Given the description of an element on the screen output the (x, y) to click on. 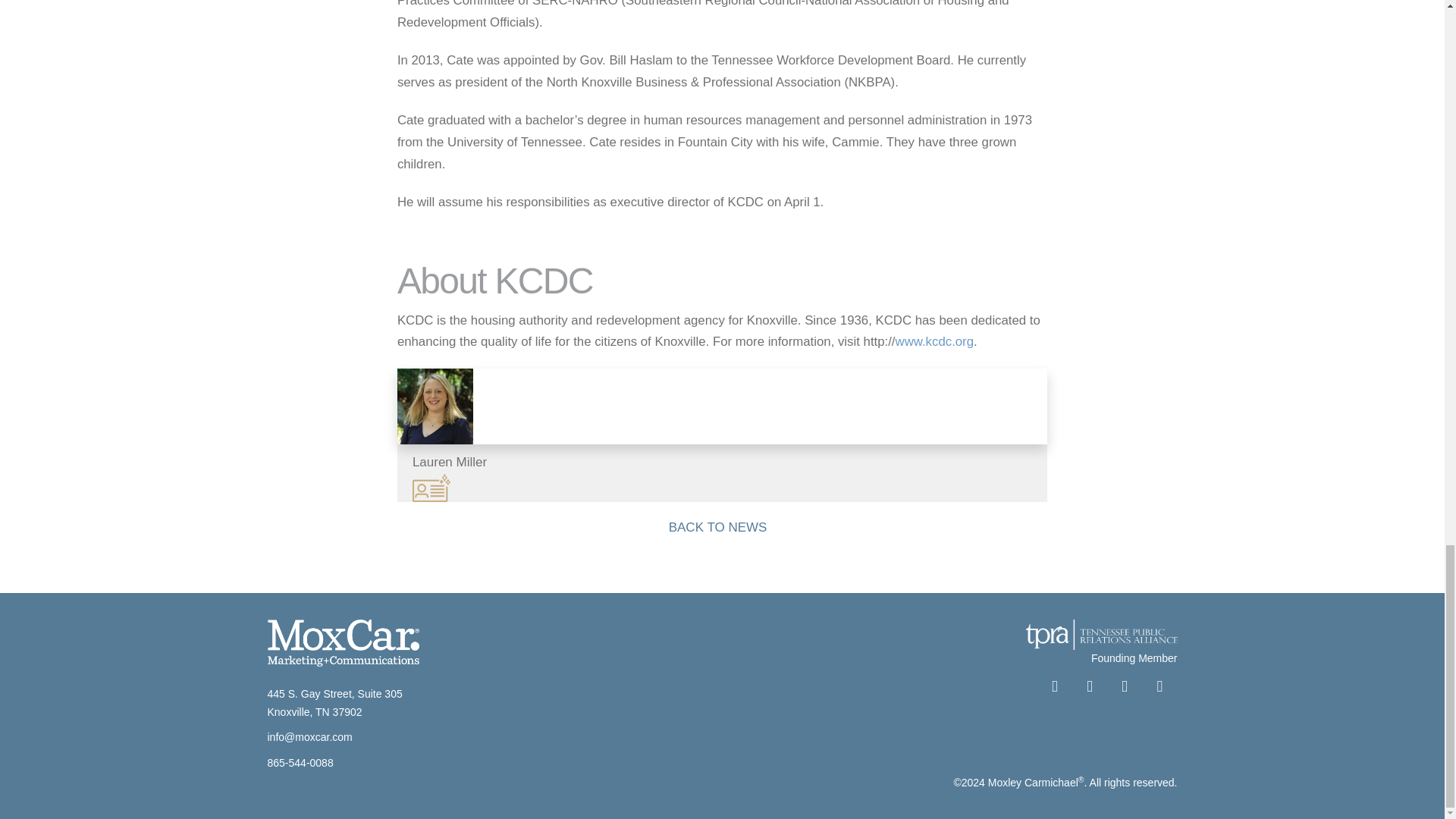
www.kcdc.org (934, 341)
Knoxville, TN 37902 (313, 711)
BACK TO NEWS (722, 530)
445 S. Gay Street, Suite 305 (333, 693)
Lauren Miller (721, 435)
865-544-0088 (299, 762)
